Given the description of an element on the screen output the (x, y) to click on. 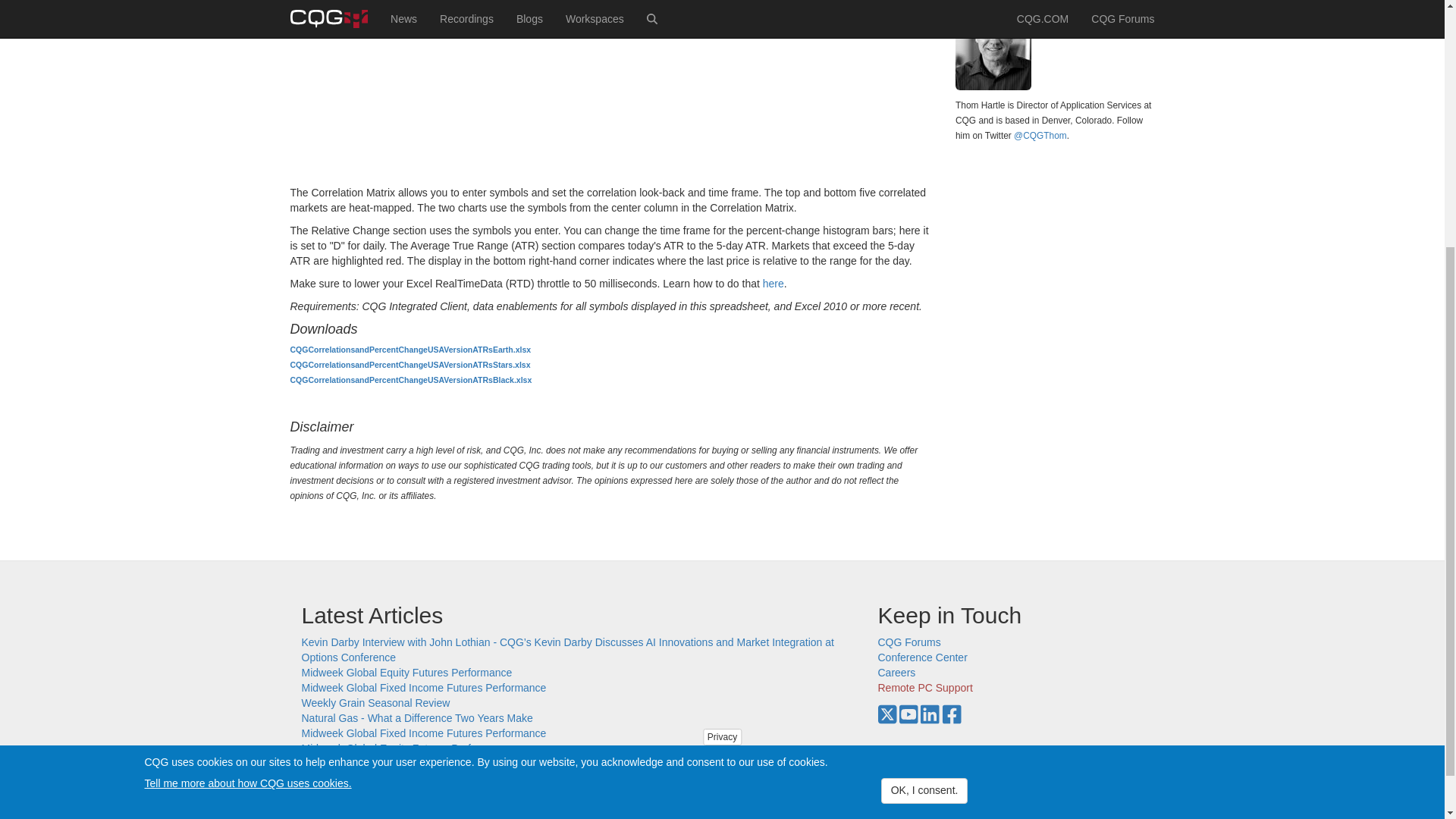
CQG Forums (908, 642)
Midweek Global Fixed Income Futures Performance (424, 687)
Weekly Grain Seasonal Review (375, 702)
Weekly Grain Seasonal Review (375, 763)
Midweek Global Equity Futures Performance (406, 672)
CQGCorrelationsandPercentChangeUSAVersionATRsEarth.xlsx (410, 348)
Careers (896, 672)
Midweek Global Fixed Income Futures Performance (424, 793)
Privacy (722, 370)
Midweek Global Equity Futures Performance (406, 748)
CQGCorrelationsandPercentChangeUSAVersionATRsBlack.xlsx (410, 379)
Midweek Global Fixed Income Futures Performance (424, 733)
CQGCorrelationsandPercentChangeUSAVersionATRsStars.xlsx (409, 364)
here (773, 283)
Remote PC Support (924, 687)
